Given the description of an element on the screen output the (x, y) to click on. 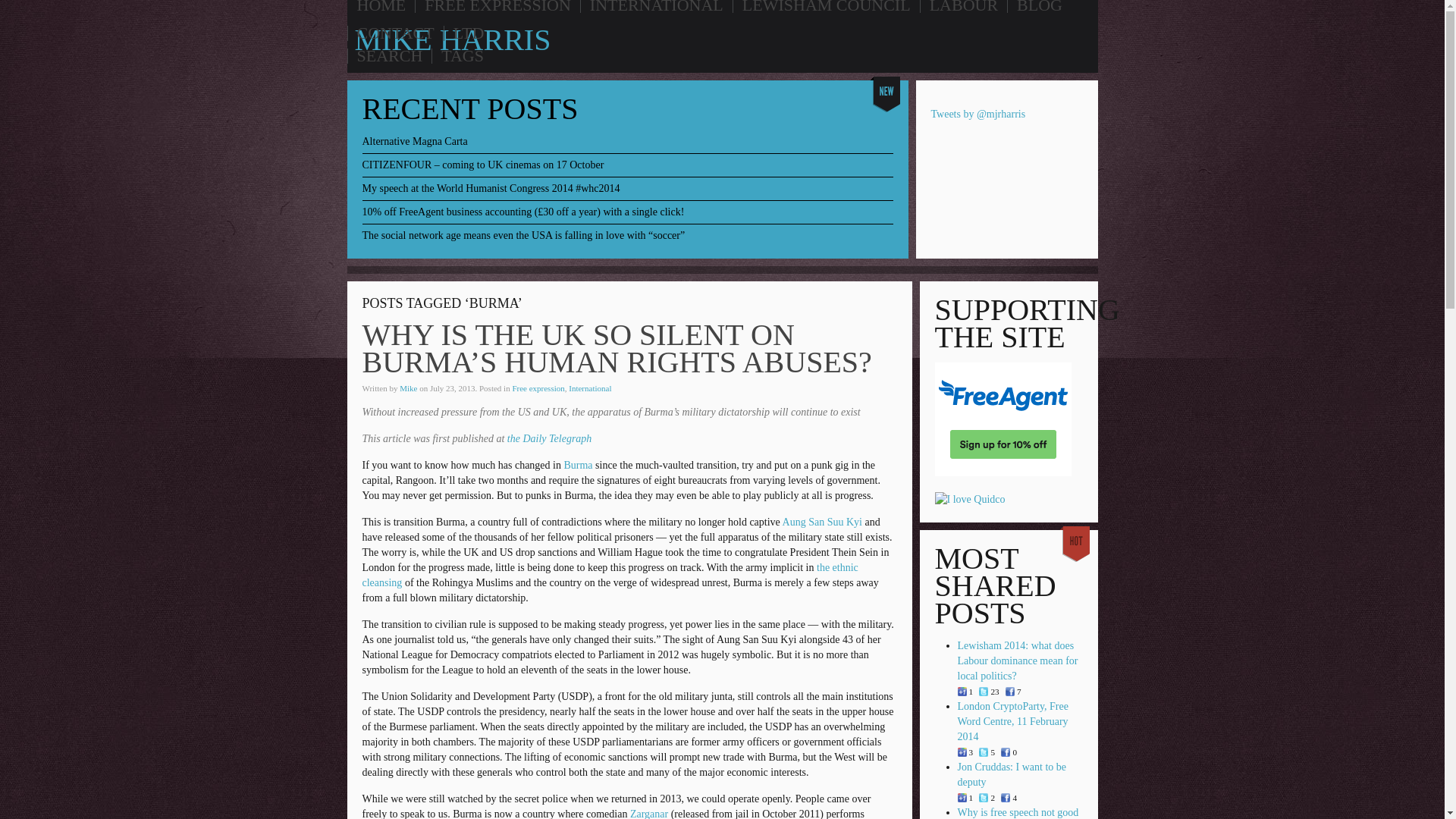
Mike (407, 388)
FREE EXPRESSION (496, 8)
MIKE HARRIS (453, 36)
LTD (468, 33)
LABOUR (963, 8)
View all posts in International (590, 388)
CONTACT (395, 33)
BLOG (1039, 8)
INTERNATIONAL (655, 8)
LEWISHAM COUNCIL (826, 8)
